Given the description of an element on the screen output the (x, y) to click on. 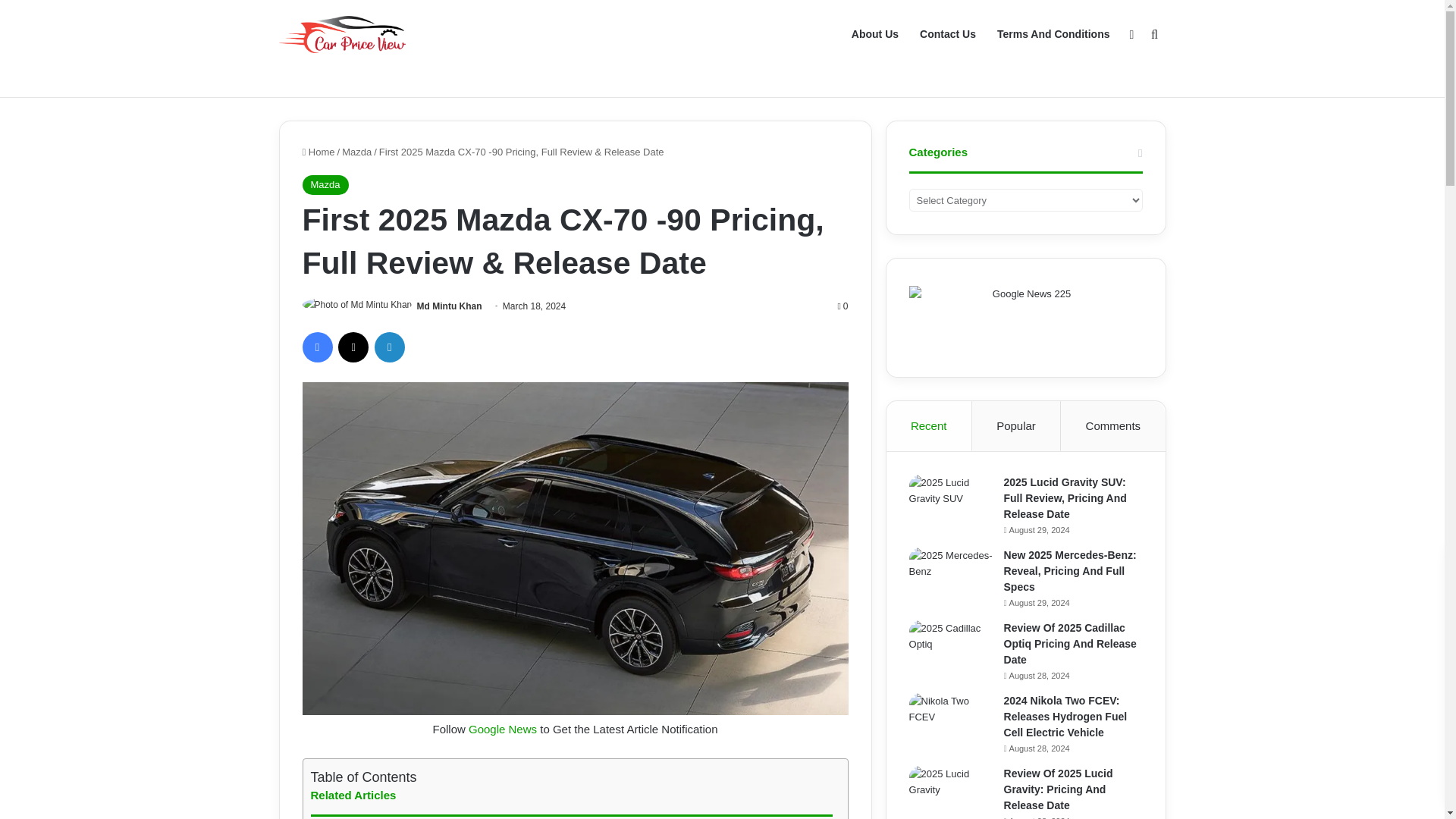
Home (317, 152)
LinkedIn (389, 347)
Facebook (316, 347)
LinkedIn (389, 347)
Facebook (316, 347)
X (352, 347)
Google News (502, 728)
Car Price View (342, 34)
Md Mintu Khan (448, 306)
Mazda (356, 152)
